Given the description of an element on the screen output the (x, y) to click on. 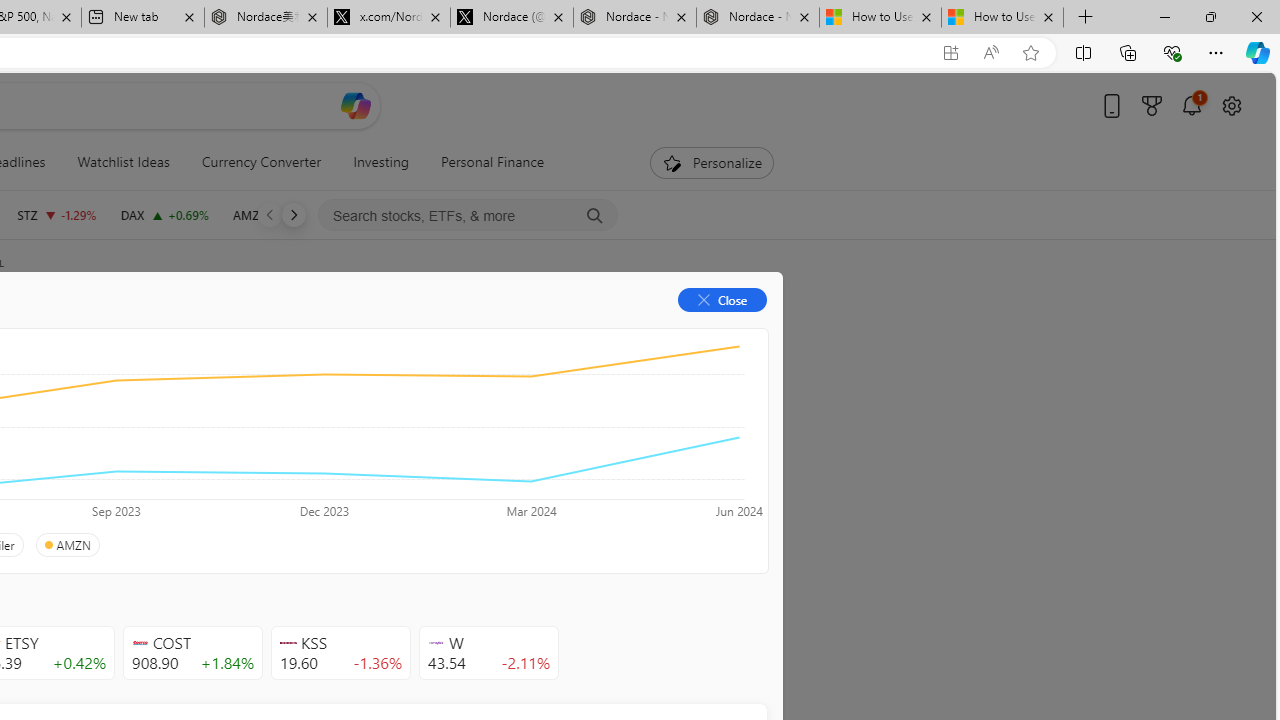
Investing (381, 162)
DAX DAX increase 18,811.34 +129.53 +0.69% (164, 214)
Class: text-DS-EntryPoint1-3 (281, 446)
Microsoft rewards (1151, 105)
x.com/NordaceOfficial (388, 17)
